Given the description of an element on the screen output the (x, y) to click on. 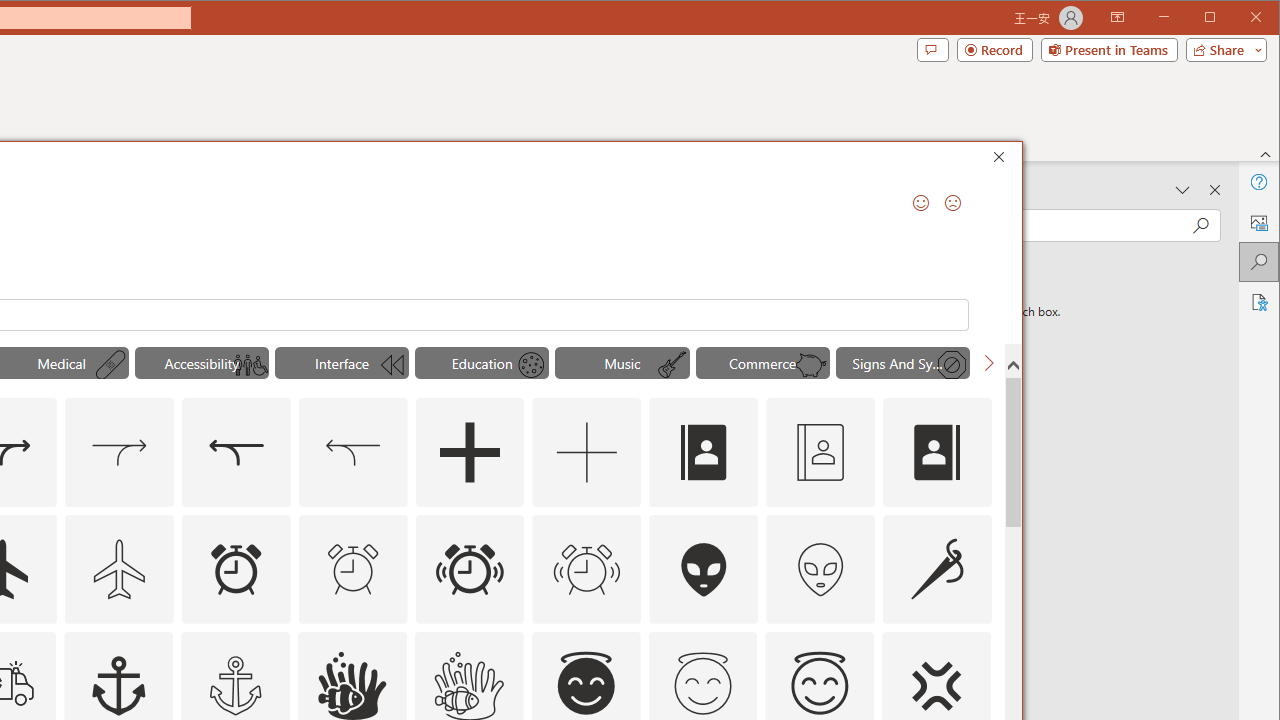
AutomationID: Icons_Add_M (586, 452)
AutomationID: Icons_AlarmClock_M (353, 568)
Send a Smile (920, 202)
AutomationID: Icons_StopSign_M (952, 365)
Send a Frown (952, 202)
AutomationID: Icons_AddressBook_LTR (703, 452)
AutomationID: Icons_AlienFace_M (820, 568)
AutomationID: Icons_ElectricGuitar_M (671, 365)
"Accessibility" Icons. (201, 362)
AutomationID: Icons_Acquisition_RTL (235, 452)
